Given the description of an element on the screen output the (x, y) to click on. 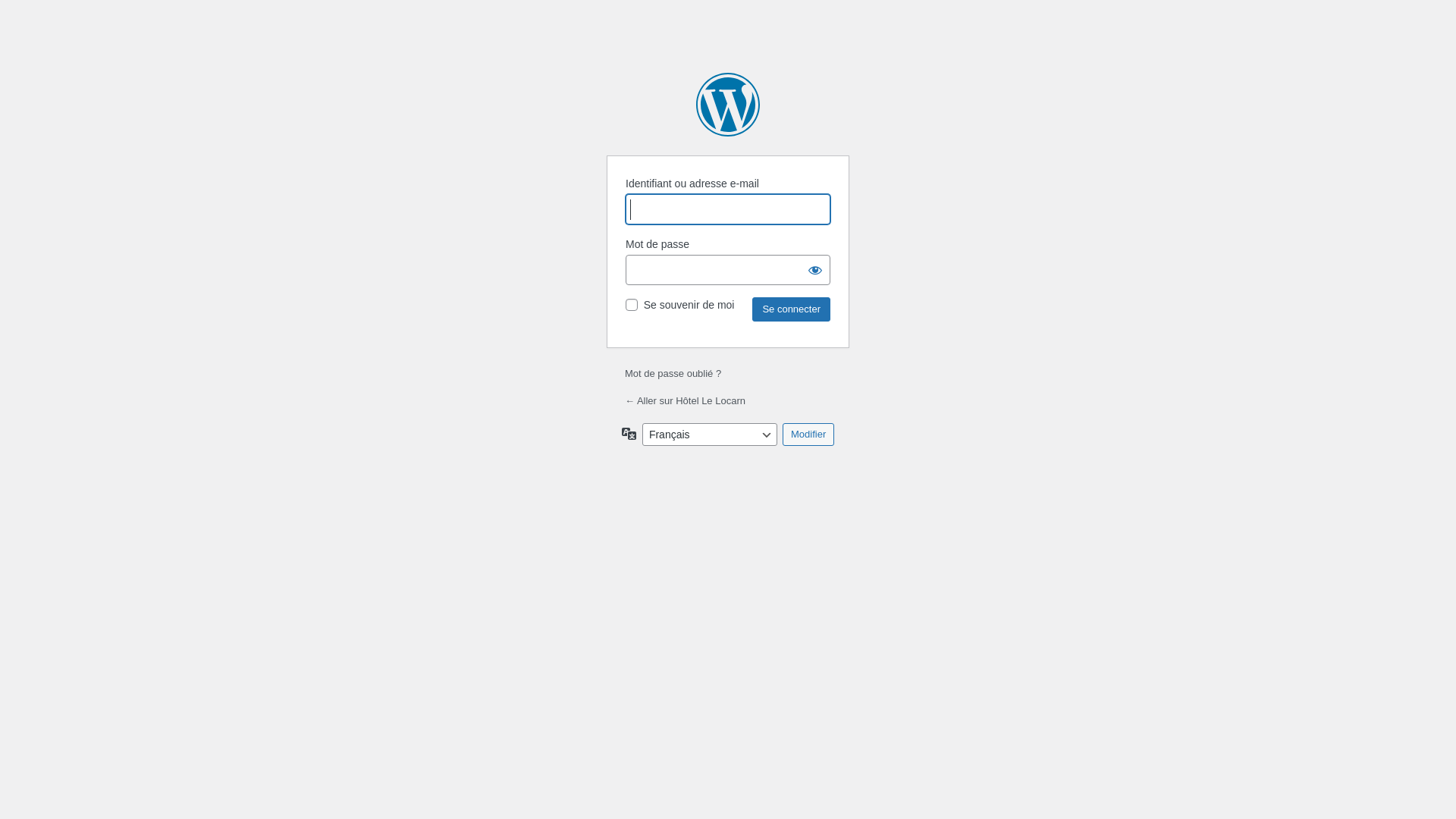
Modifier Element type: text (808, 434)
Se connecter Element type: text (791, 309)
